Given the description of an element on the screen output the (x, y) to click on. 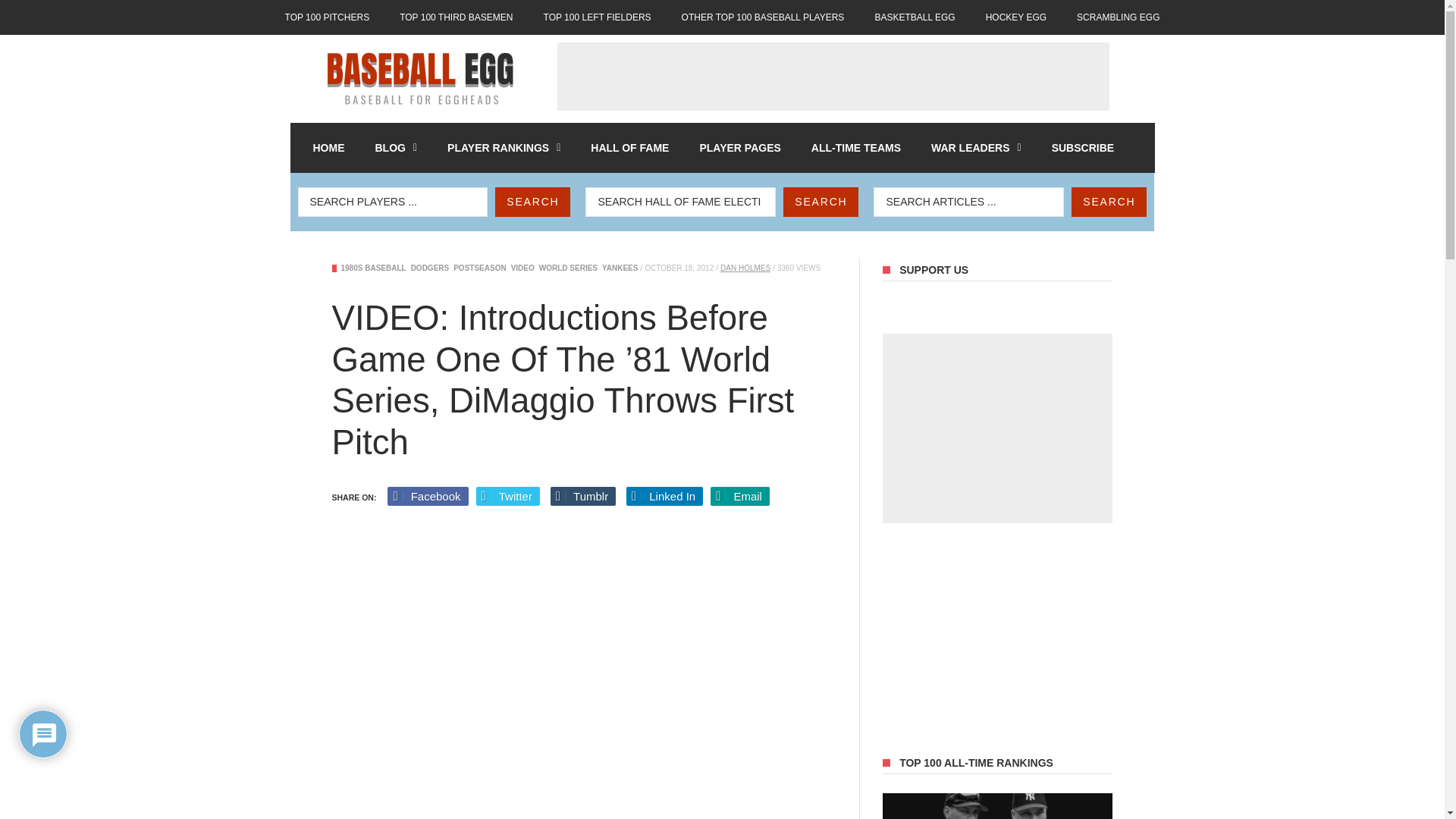
Advertisement (832, 76)
TOP 100 LEFT FIELDERS (597, 17)
PLAYER RANKINGS (503, 147)
Yankees (619, 267)
Dodgers (429, 267)
BLOG (395, 147)
HOME (328, 147)
HOCKEY EGG (1016, 17)
TOP 100 THIRD BASEMEN (455, 17)
World Series (567, 267)
1980s Baseball (373, 267)
Postseason (478, 267)
SCRAMBLING EGG (1117, 17)
Video (522, 267)
OTHER TOP 100 BASEBALL PLAYERS (763, 17)
